Given the description of an element on the screen output the (x, y) to click on. 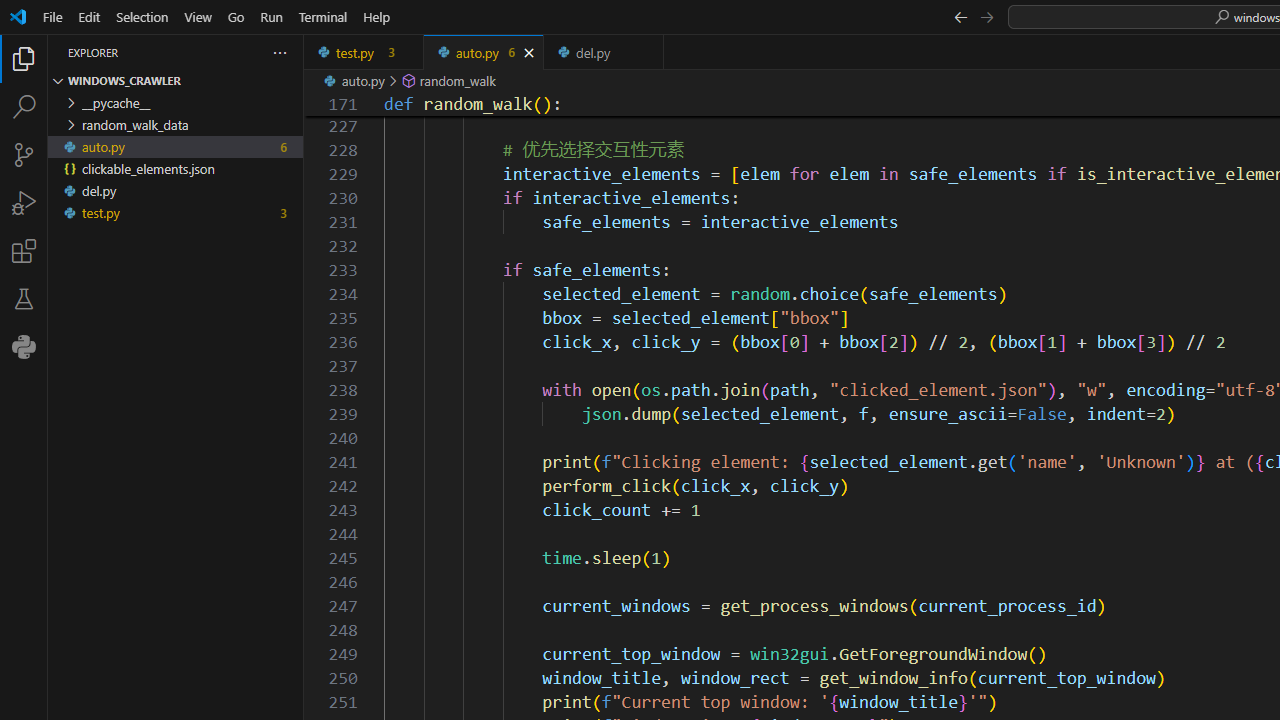
Explorer (Ctrl+Shift+E) (24, 58)
Views and More Actions... (279, 52)
File (52, 16)
Testing (24, 299)
Selection (141, 16)
del.py (604, 52)
Search (Ctrl+Shift+F) (24, 106)
View (198, 16)
Explorer actions (208, 52)
Tab actions (648, 52)
auto.py (483, 52)
Go (235, 16)
Help (376, 16)
Explorer Section: windows_crawler (175, 80)
Go Forward (Alt+RightArrow) (986, 16)
